Given the description of an element on the screen output the (x, y) to click on. 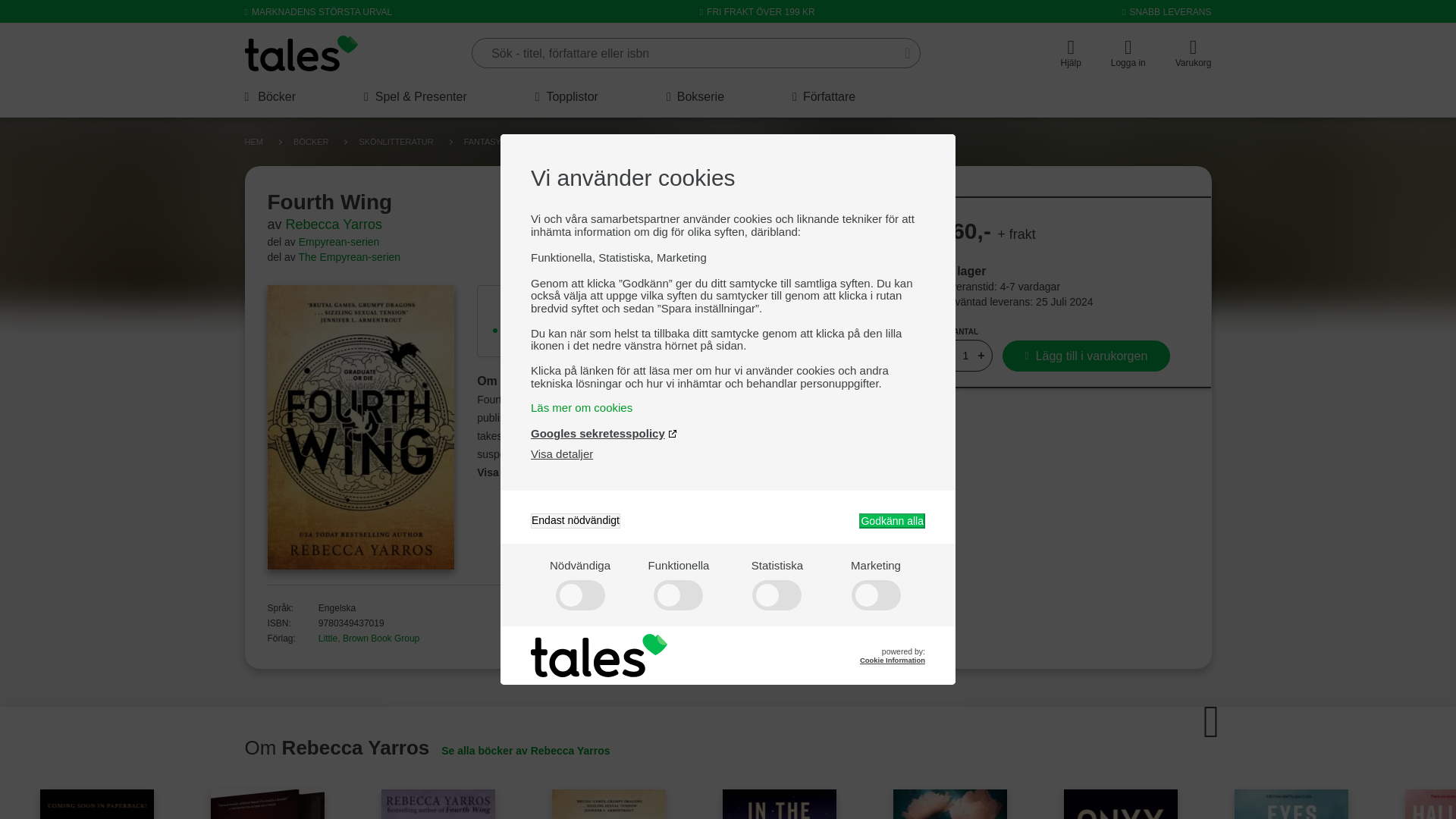
Googles sekretesspolicy (604, 432)
Visa detaljer (561, 453)
